Given the description of an element on the screen output the (x, y) to click on. 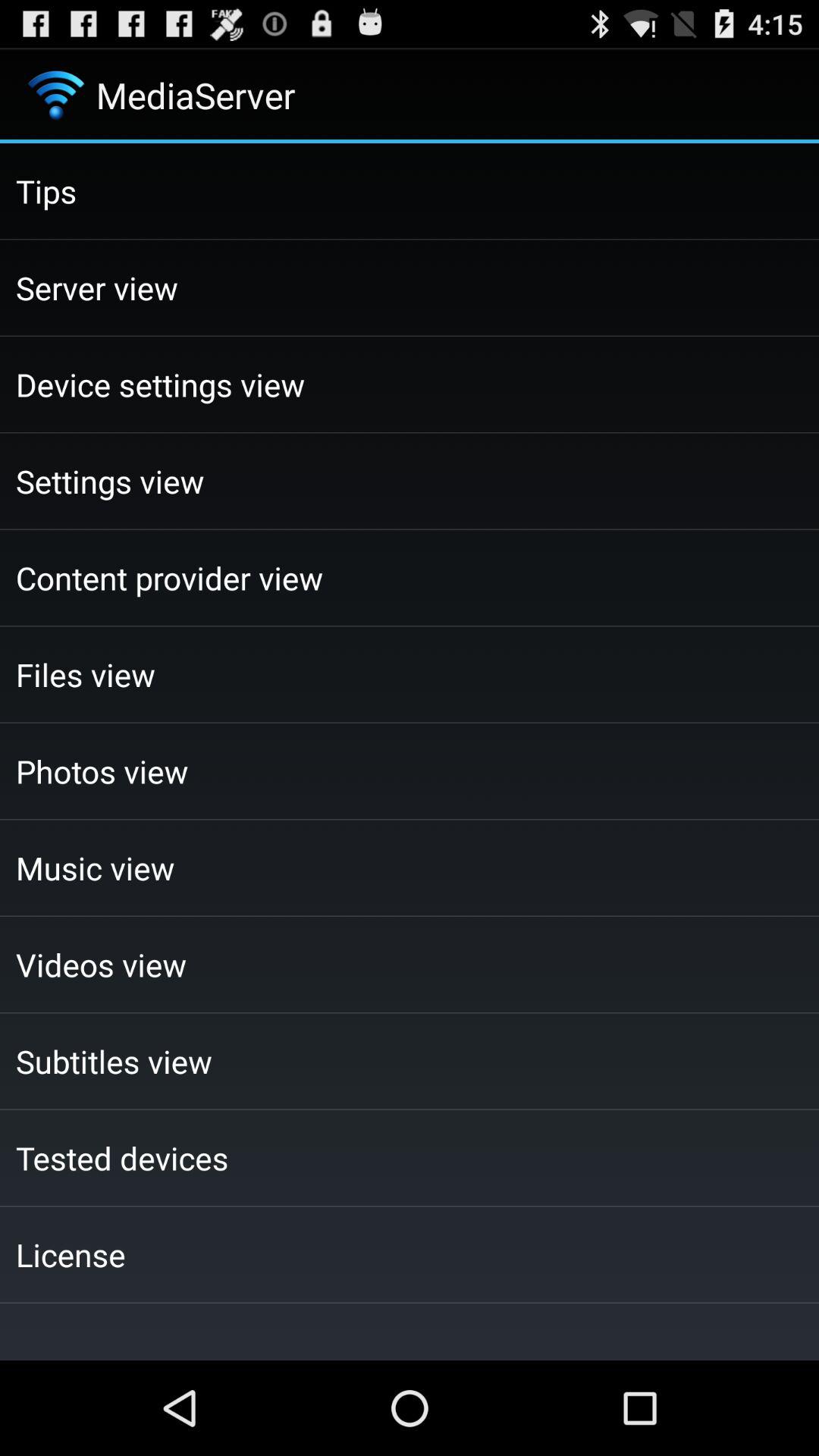
turn on item above the files view item (409, 577)
